Given the description of an element on the screen output the (x, y) to click on. 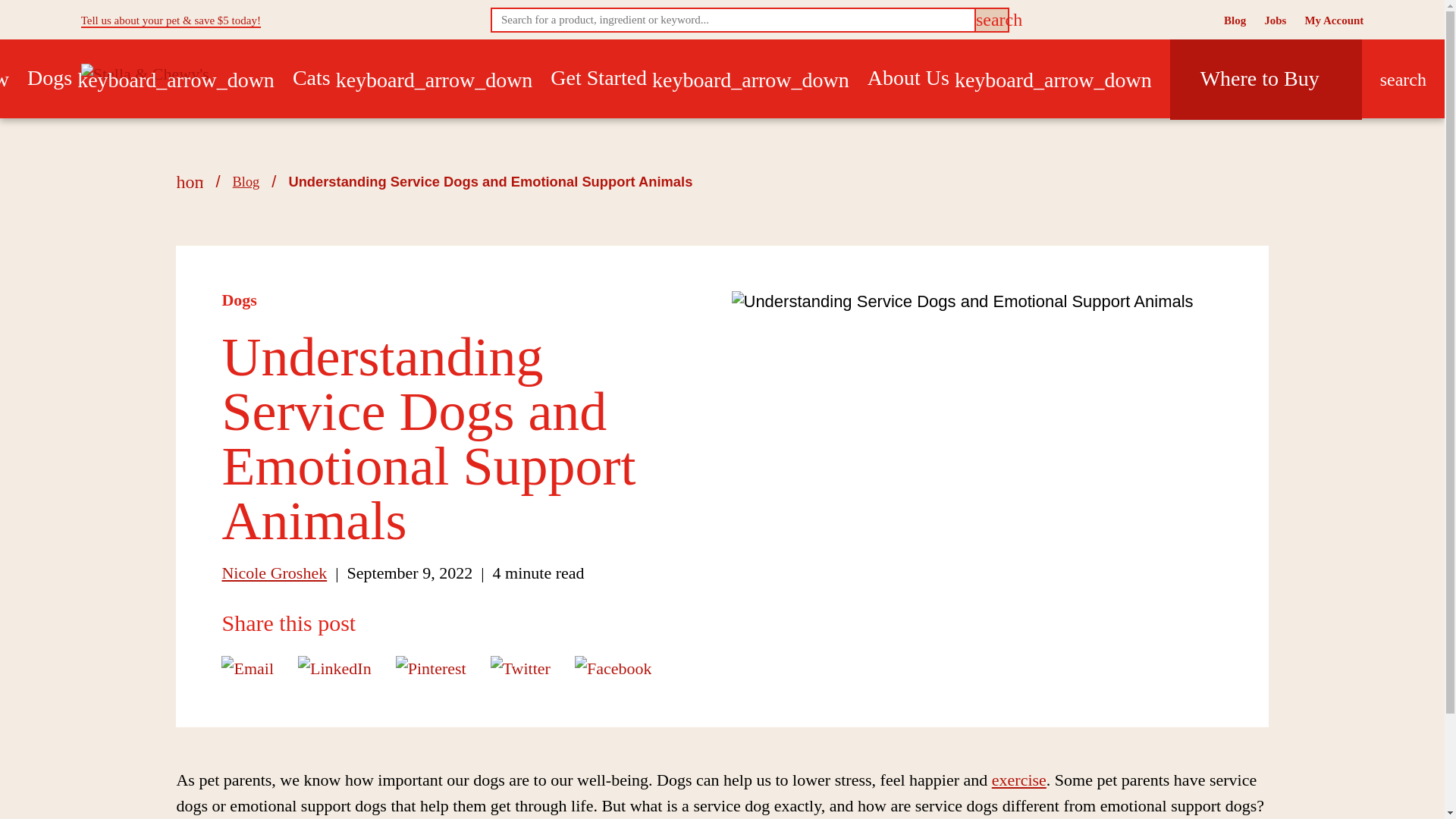
Jobs (1274, 20)
Cats (412, 78)
Twitter (520, 667)
Email (247, 667)
Dogs (151, 78)
Pinterest (430, 667)
My Account (1333, 20)
Blog (1235, 20)
Blog (1235, 20)
My Account (1333, 20)
search (991, 19)
Jobs (1274, 20)
Facebook (613, 667)
LinkedIn (334, 667)
